Given the description of an element on the screen output the (x, y) to click on. 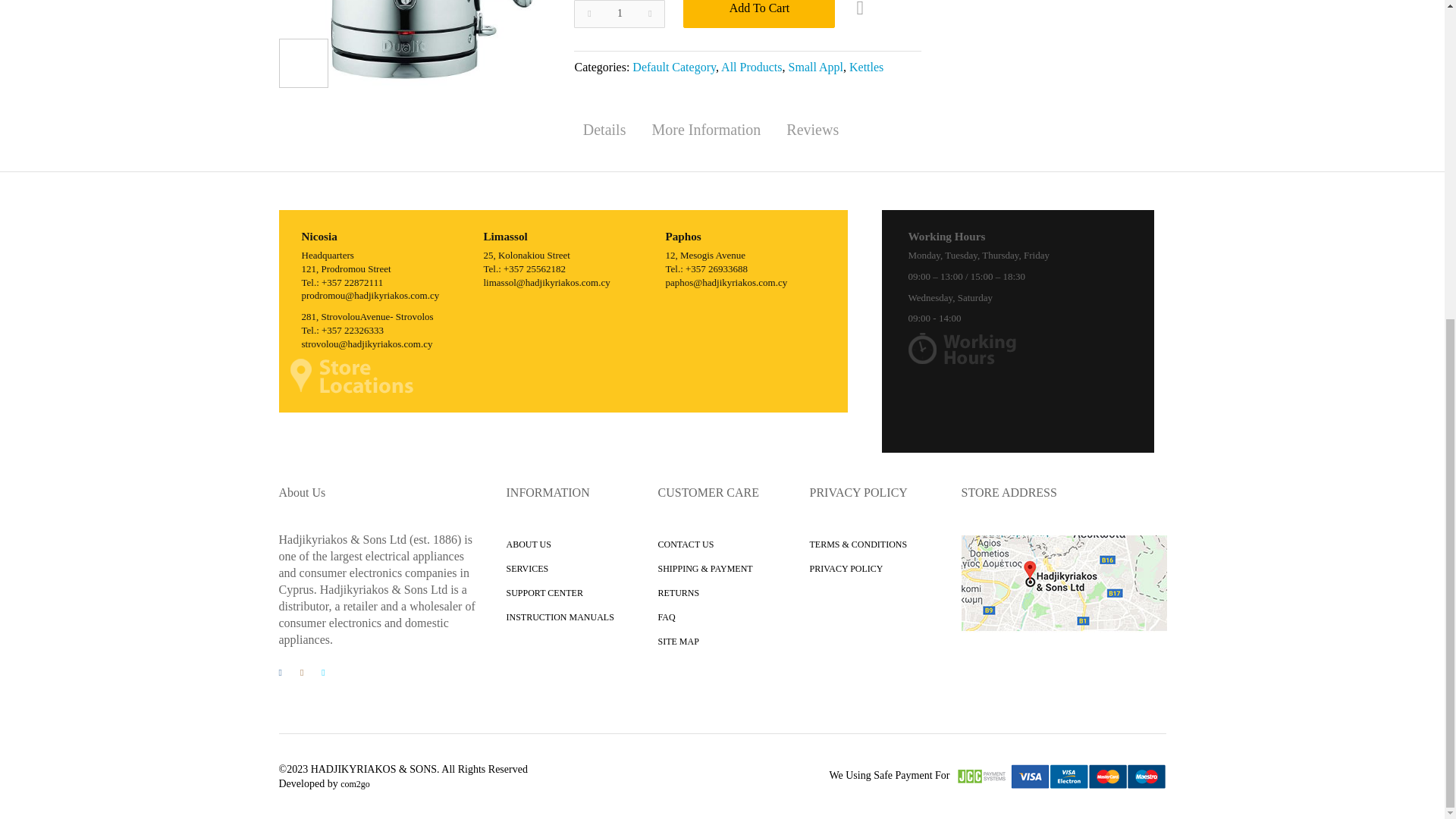
Qty (619, 13)
1 (619, 13)
Add to Cart (758, 13)
